Given the description of an element on the screen output the (x, y) to click on. 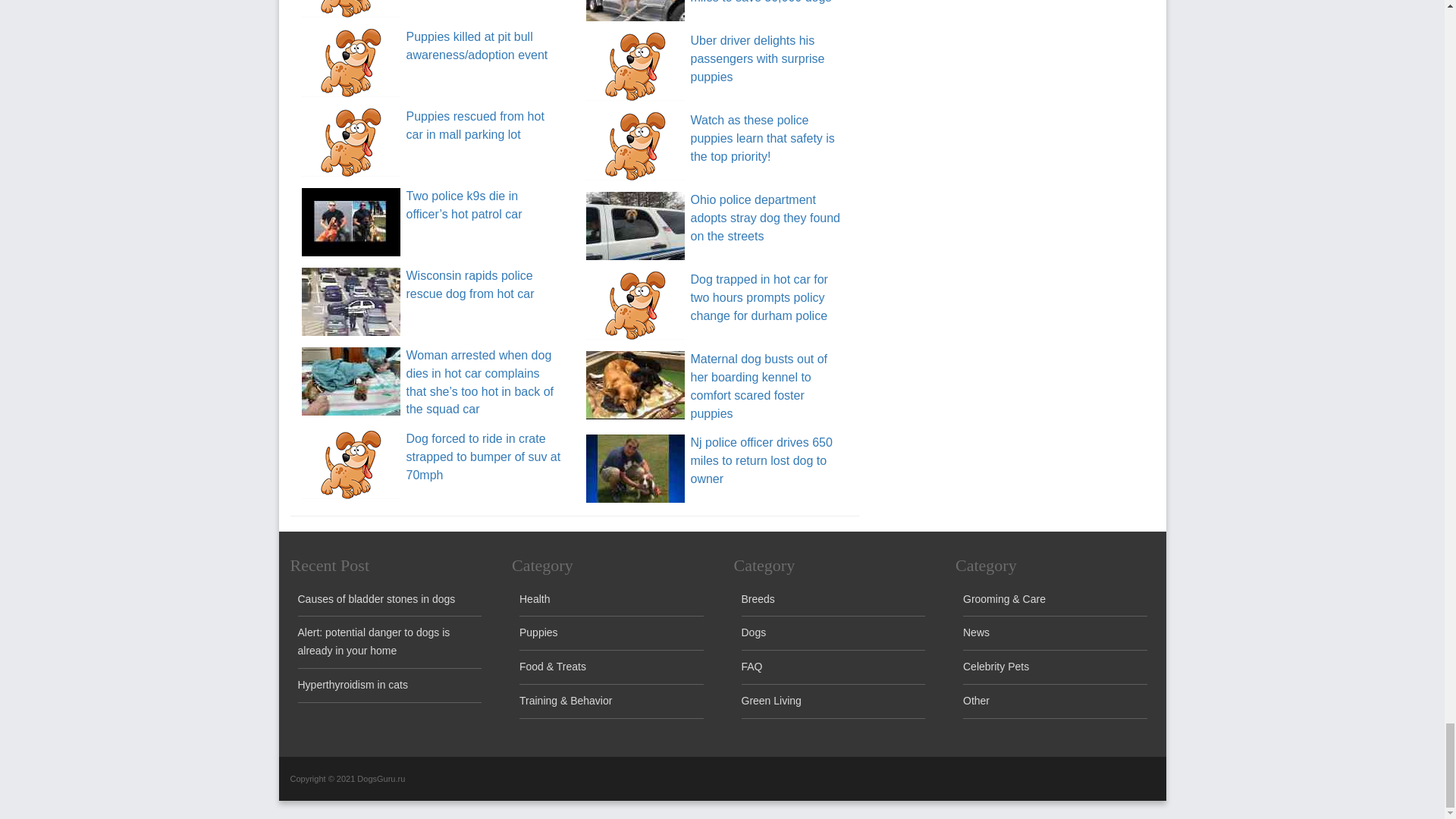
Wisconsin rapids police rescue dog from hot car (350, 301)
Wisconsin rapids police rescue dog from hot car (470, 284)
Puppies rescued from hot car in mall parking lot (475, 124)
Puppies rescued from hot car in mall parking lot (350, 142)
Wisconsin rapids police rescue dog from hot car (470, 284)
Illinois police dog dies in hot patrol car (350, 8)
Uber driver delights his passengers with surprise puppies (757, 58)
Puppies rescued from hot car in mall parking lot (475, 124)
